Given the description of an element on the screen output the (x, y) to click on. 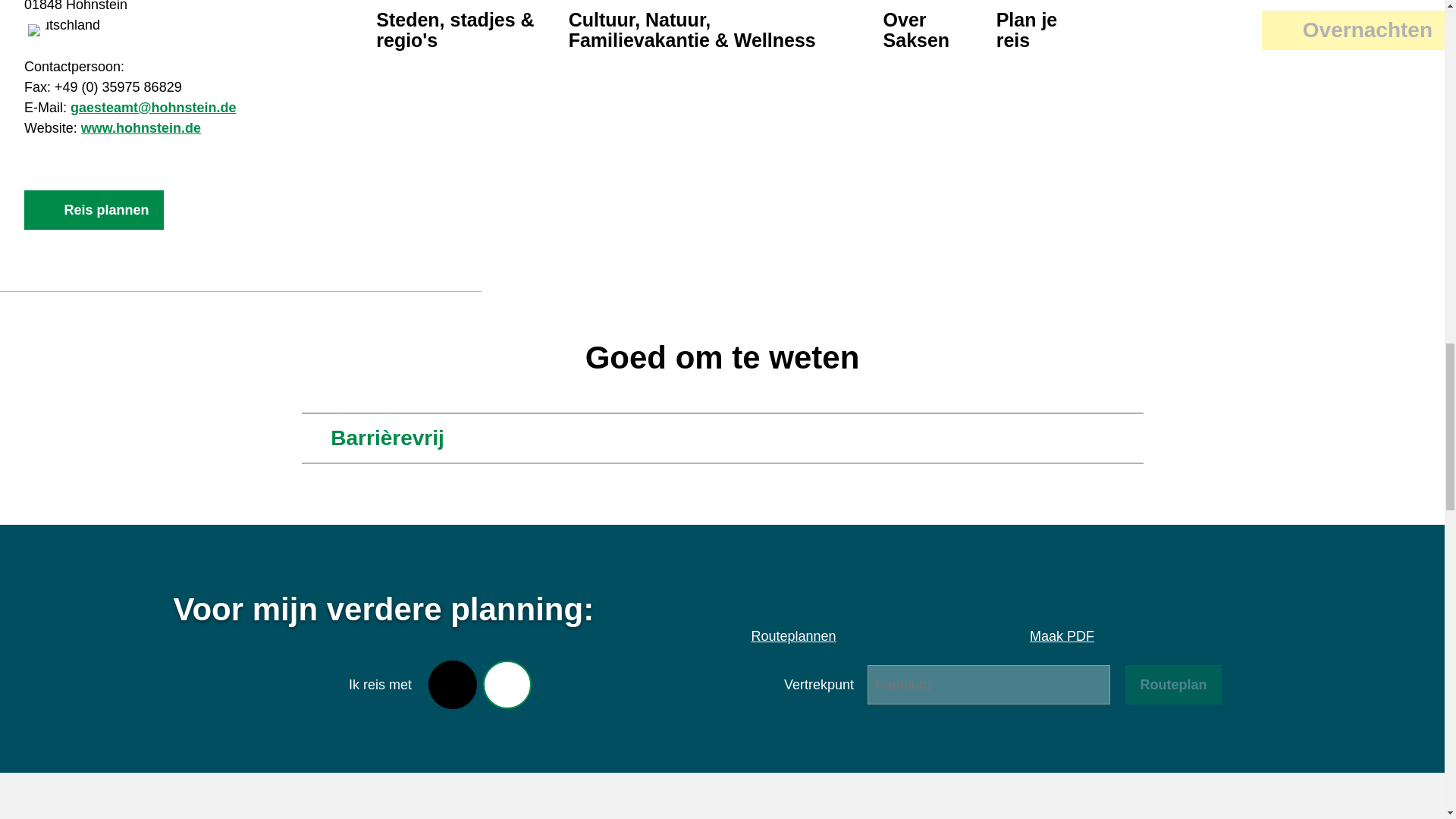
Reis plannen (93, 210)
Reis plannen (93, 210)
